Given the description of an element on the screen output the (x, y) to click on. 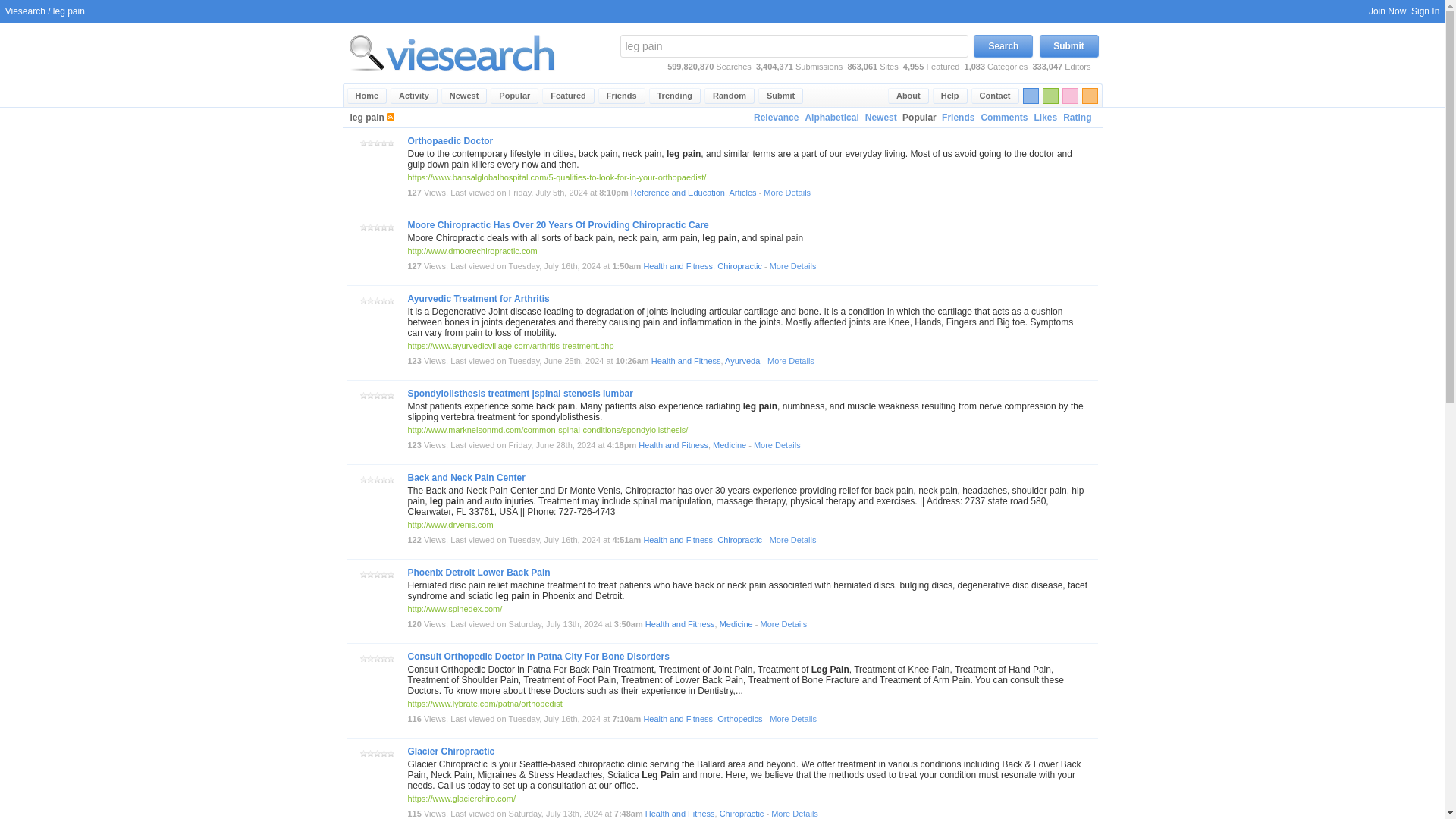
Sign In (1424, 10)
Friends (621, 95)
Switch this page to green (1050, 95)
Orthopaedic Doctor (450, 140)
Submit a new site (780, 95)
Alphabetical (831, 117)
Likes (1044, 117)
Sign In (1424, 10)
Search (1003, 46)
Get help with Viesearch (950, 95)
Switch this page to pink (1069, 95)
Newest (464, 95)
The 50 most recently approved sites in Viesearch (464, 95)
Reference and Education (677, 192)
Recent social activity (414, 95)
